Given the description of an element on the screen output the (x, y) to click on. 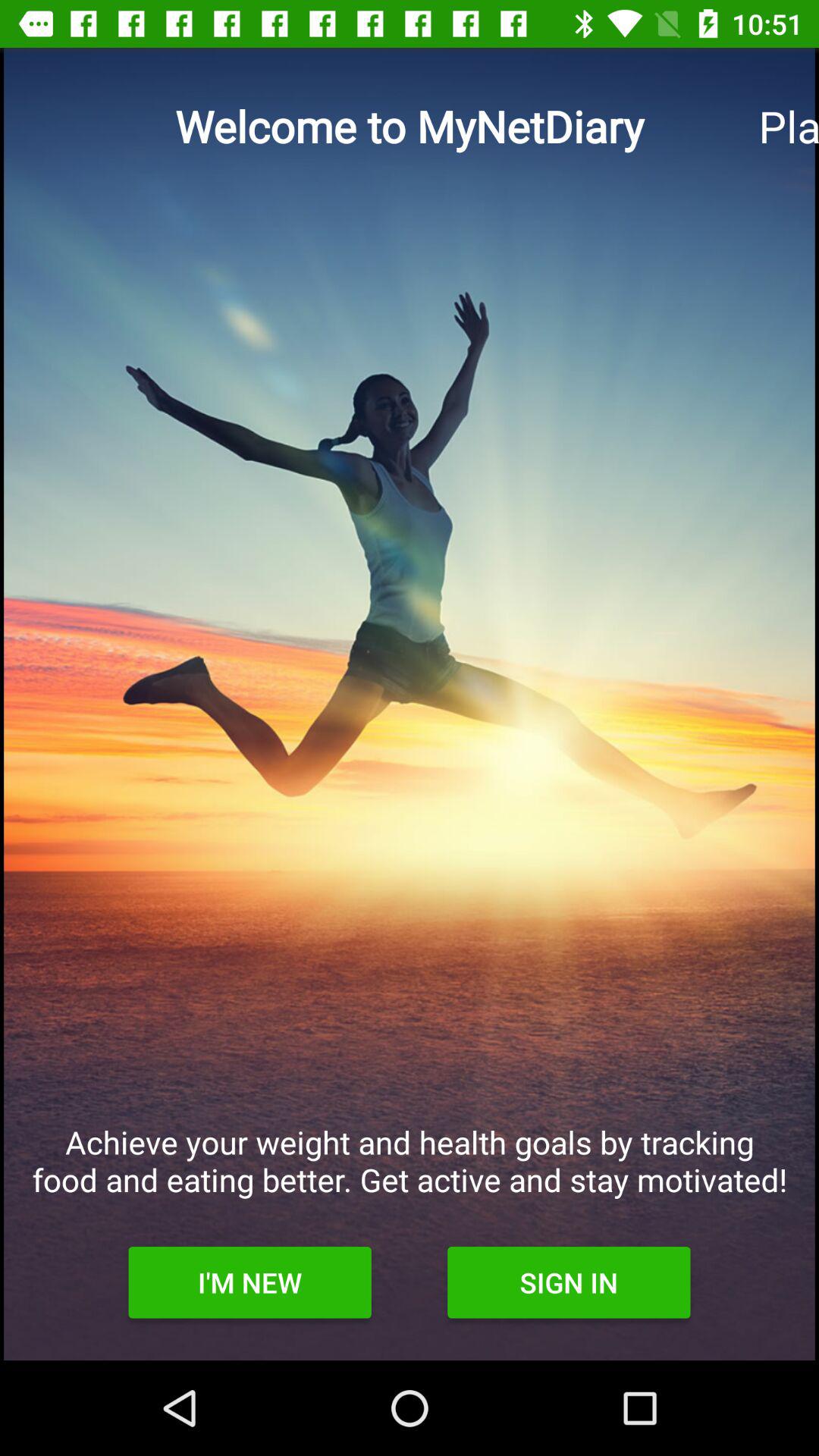
open item at the bottom left corner (249, 1282)
